Given the description of an element on the screen output the (x, y) to click on. 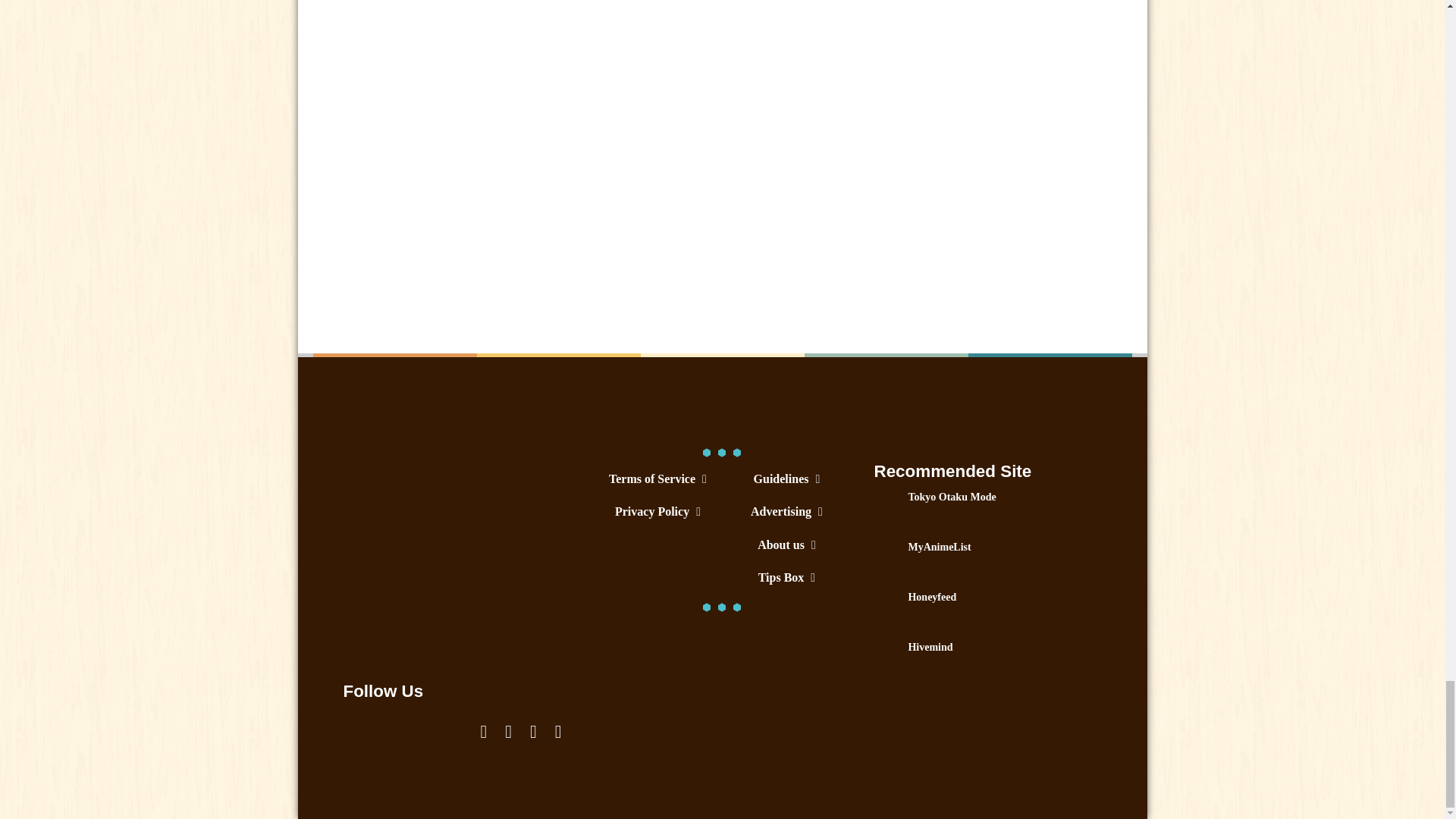
Privacy Policy (657, 511)
Terms of Service (657, 478)
Guidelines (786, 478)
Terms of Service Agreement (657, 478)
